Given the description of an element on the screen output the (x, y) to click on. 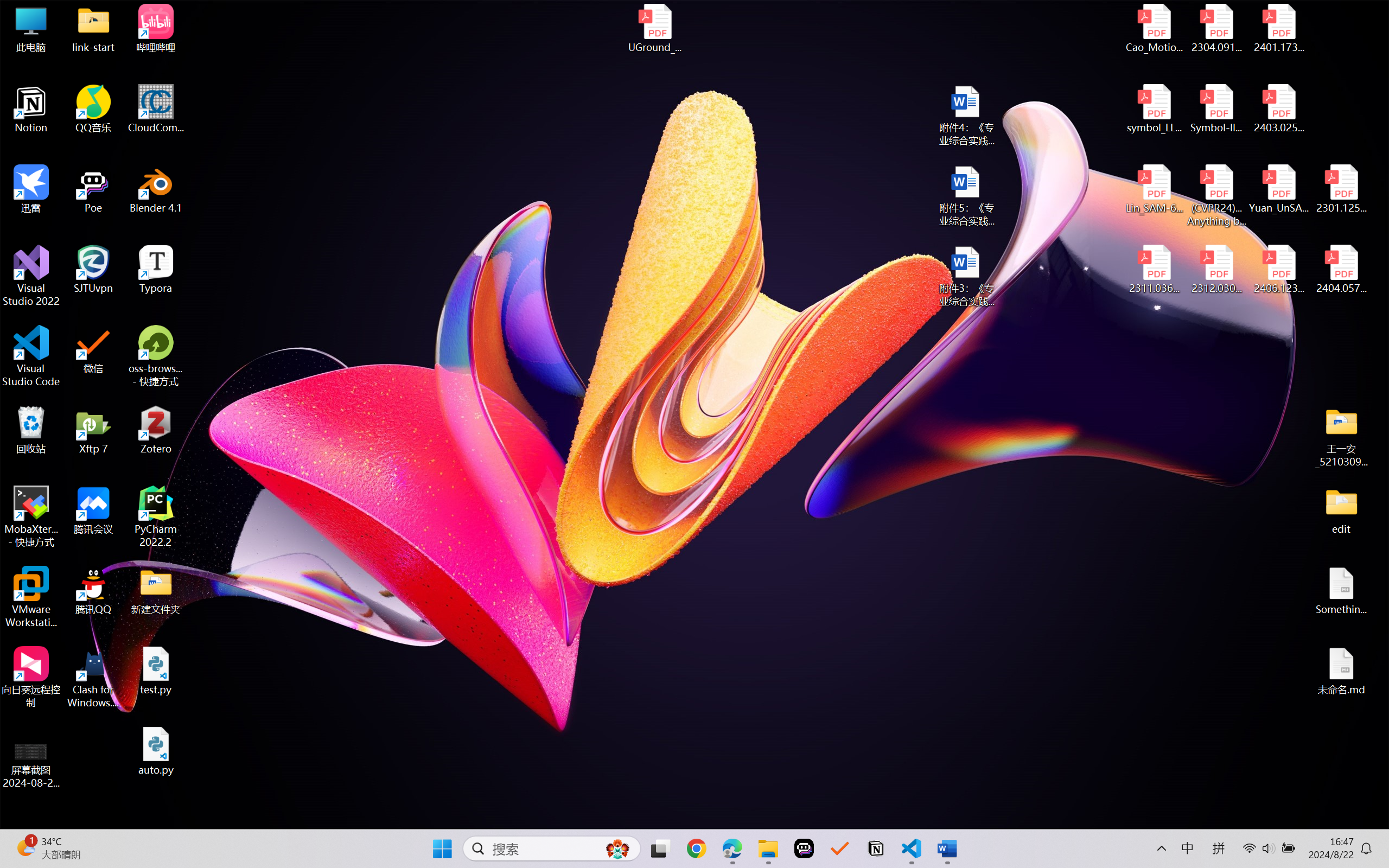
Blender 4.1 (156, 189)
PyCharm 2022.2 (156, 516)
symbol_LLM.pdf (1154, 109)
